Given the description of an element on the screen output the (x, y) to click on. 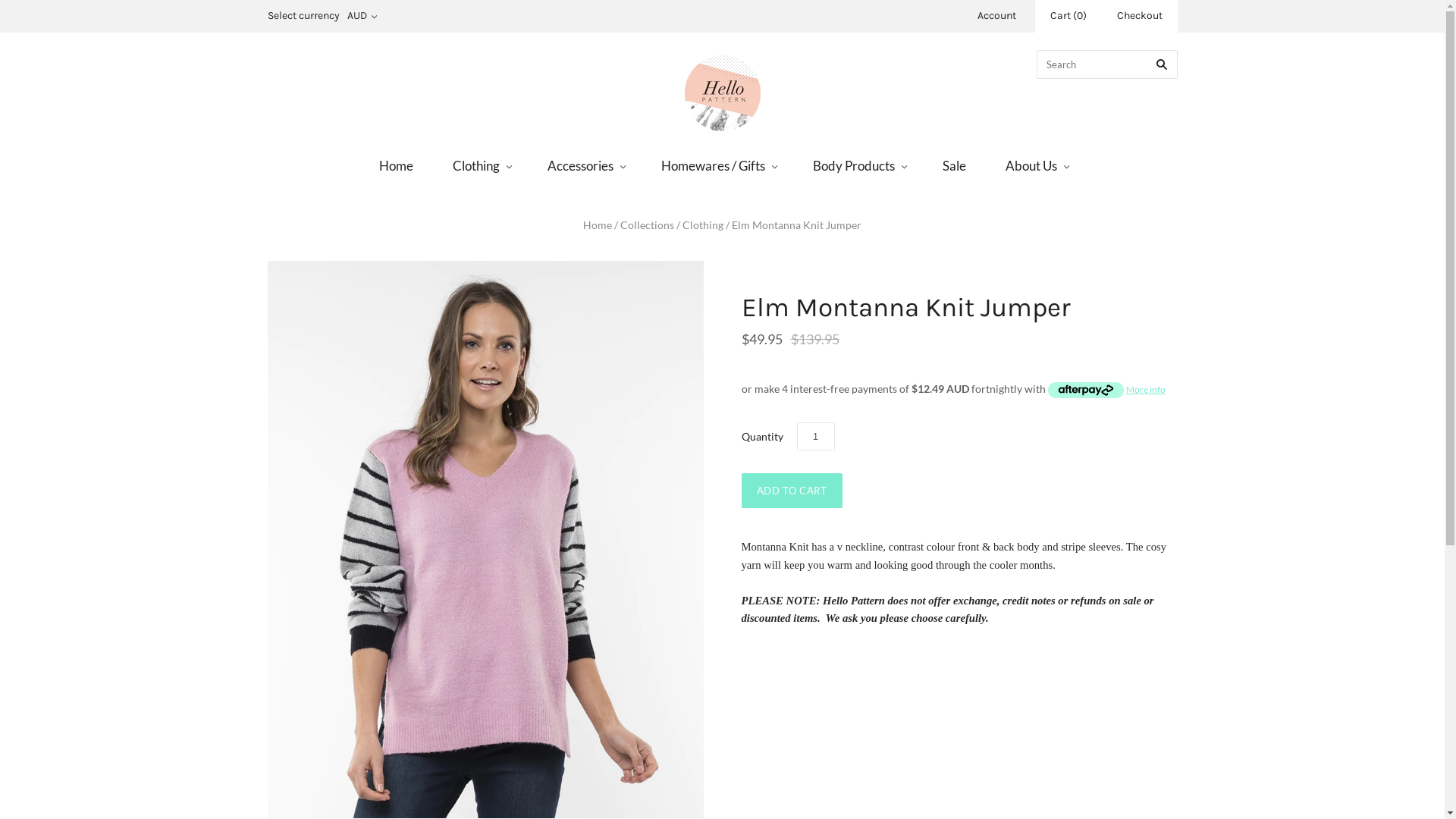
Account Element type: text (995, 15)
More info Element type: text (1106, 389)
Add to cart Element type: text (791, 490)
Cart (0) Element type: text (1067, 16)
Sale Element type: text (953, 165)
Home Element type: text (396, 165)
Clothing Element type: text (480, 165)
Homewares / Gifts Element type: text (717, 165)
Body Products Element type: text (857, 165)
Clothing Element type: text (702, 224)
Home Element type: text (597, 224)
Checkout Element type: text (1138, 16)
Accessories Element type: text (584, 165)
About Us Element type: text (1035, 165)
Collections Element type: text (647, 224)
